Given the description of an element on the screen output the (x, y) to click on. 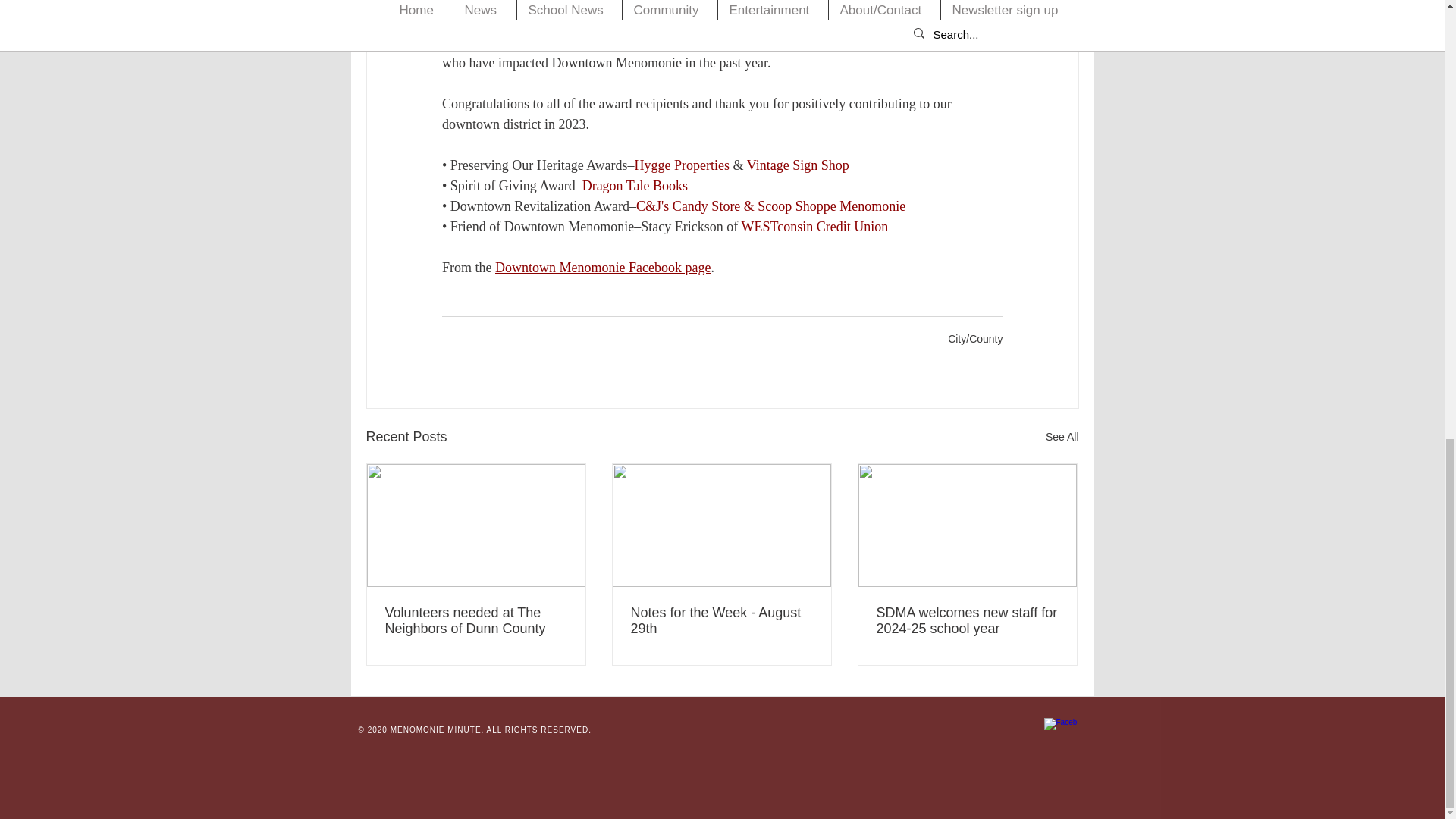
Dragon Tale Books (633, 185)
Vintage Sign Shop (796, 165)
Hygge Properties (681, 165)
